Given the description of an element on the screen output the (x, y) to click on. 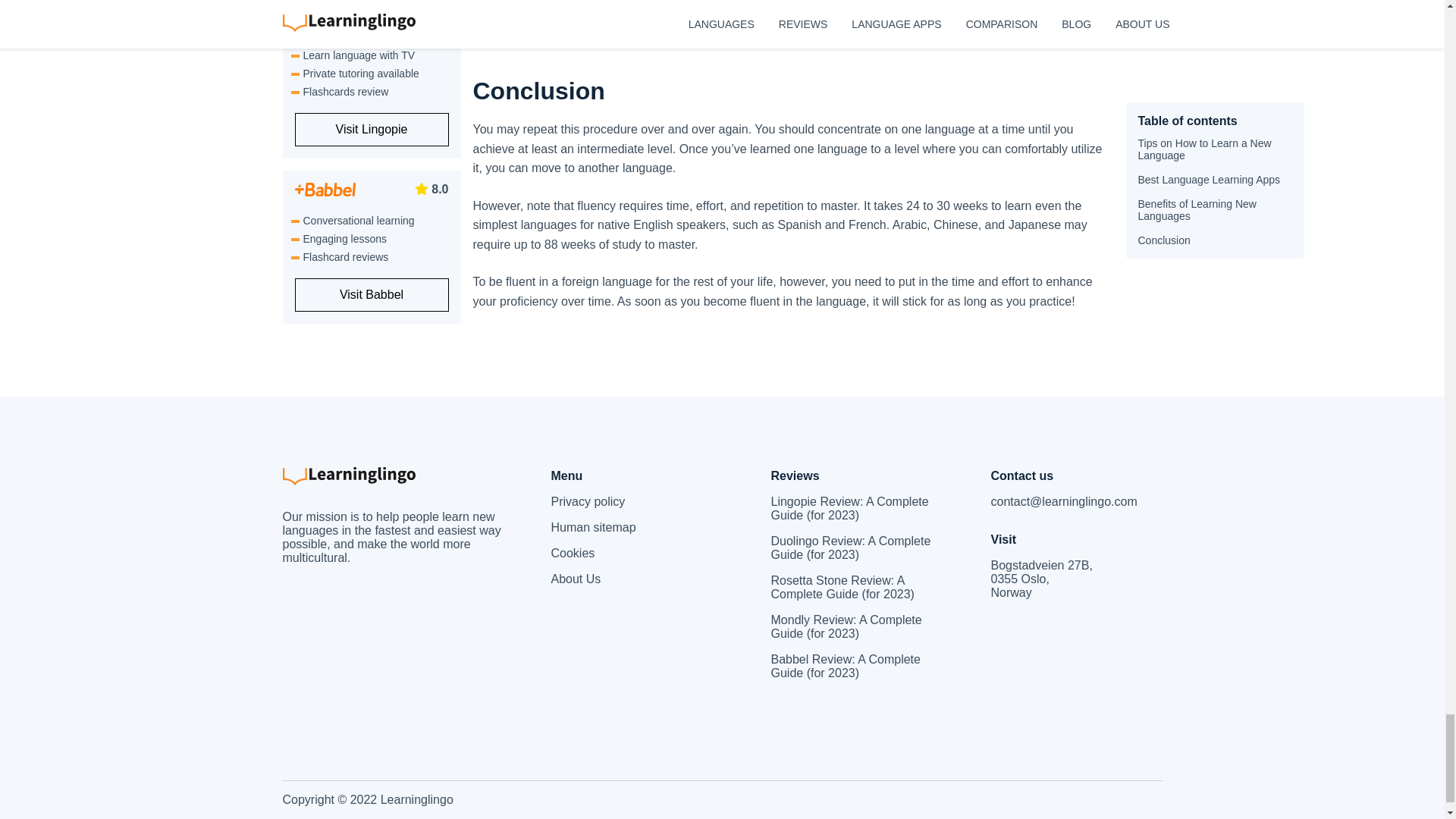
Privacy policy (636, 501)
Cookies (636, 553)
Human sitemap (636, 527)
About Us (636, 579)
